Given the description of an element on the screen output the (x, y) to click on. 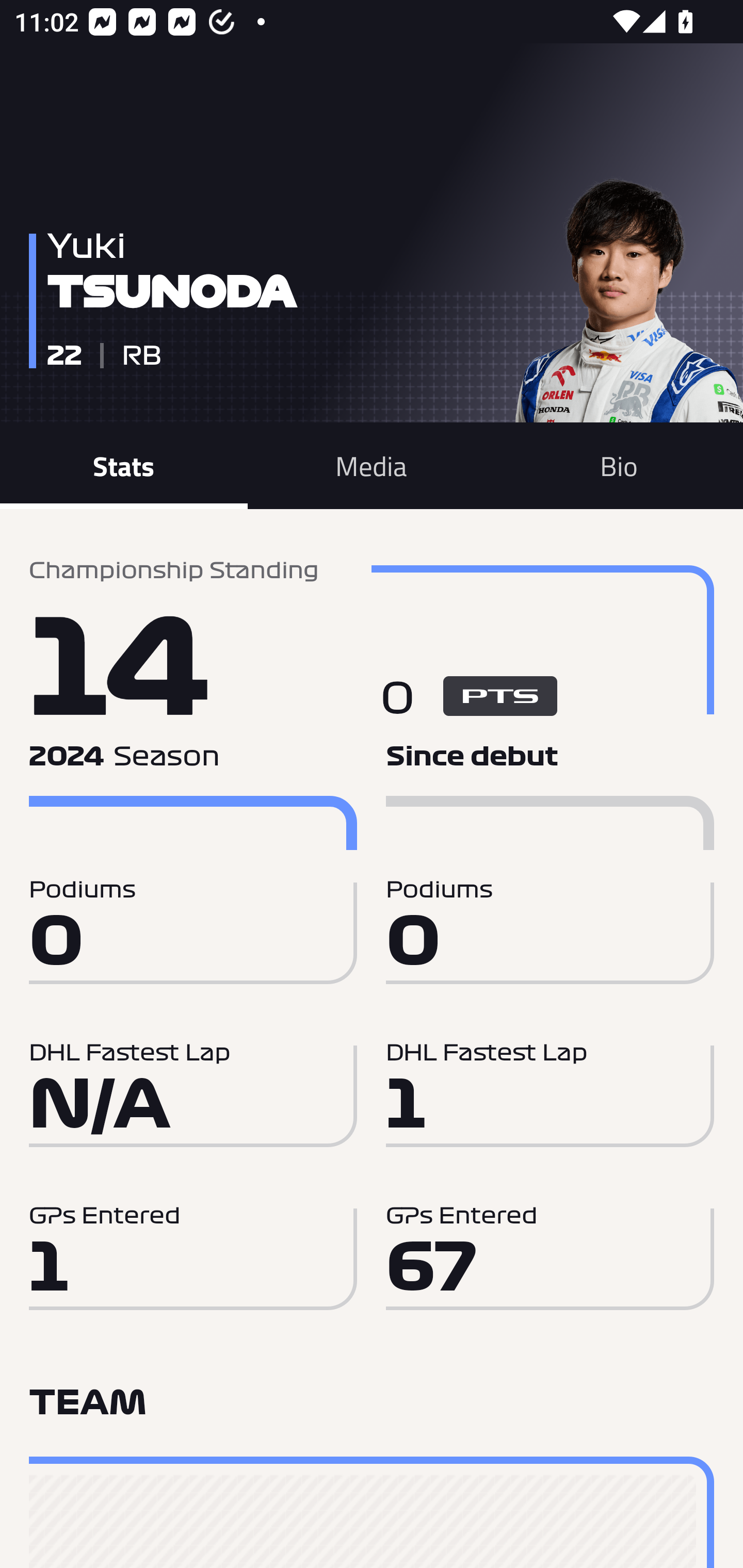
Media (371, 465)
Bio (619, 465)
